Given the description of an element on the screen output the (x, y) to click on. 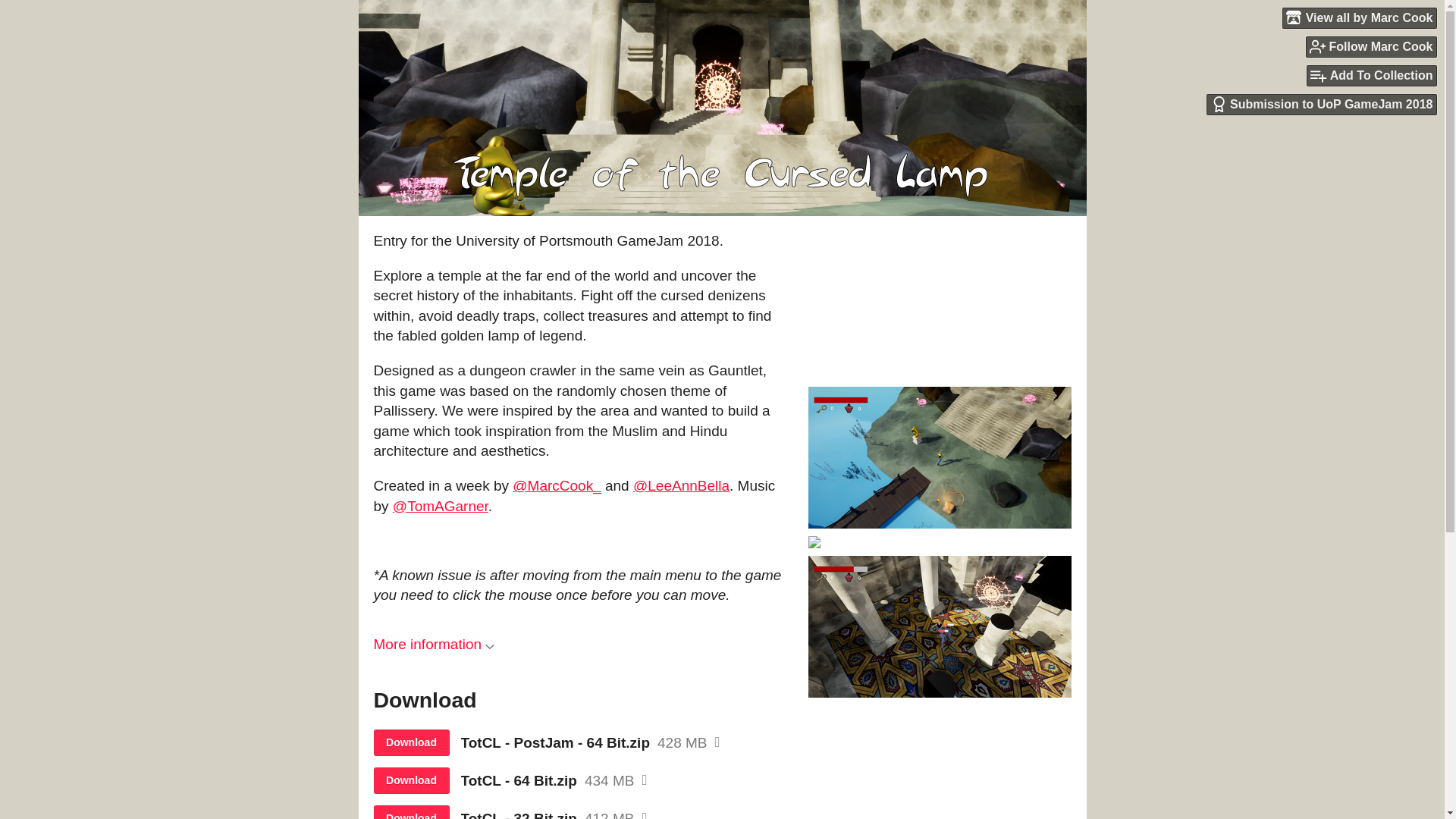
TotCL - PostJam - 64 Bit.zip (555, 742)
Download (410, 812)
TotCL - 64 Bit.zip (518, 781)
Download (410, 742)
Add To Collection (1371, 75)
Follow Marc Cook (1371, 46)
TotCL - 32 Bit.zip (518, 814)
More information (433, 643)
Download (410, 780)
Submission to UoP GameJam 2018 (1322, 104)
View all by Marc Cook (1359, 17)
